Given the description of an element on the screen output the (x, y) to click on. 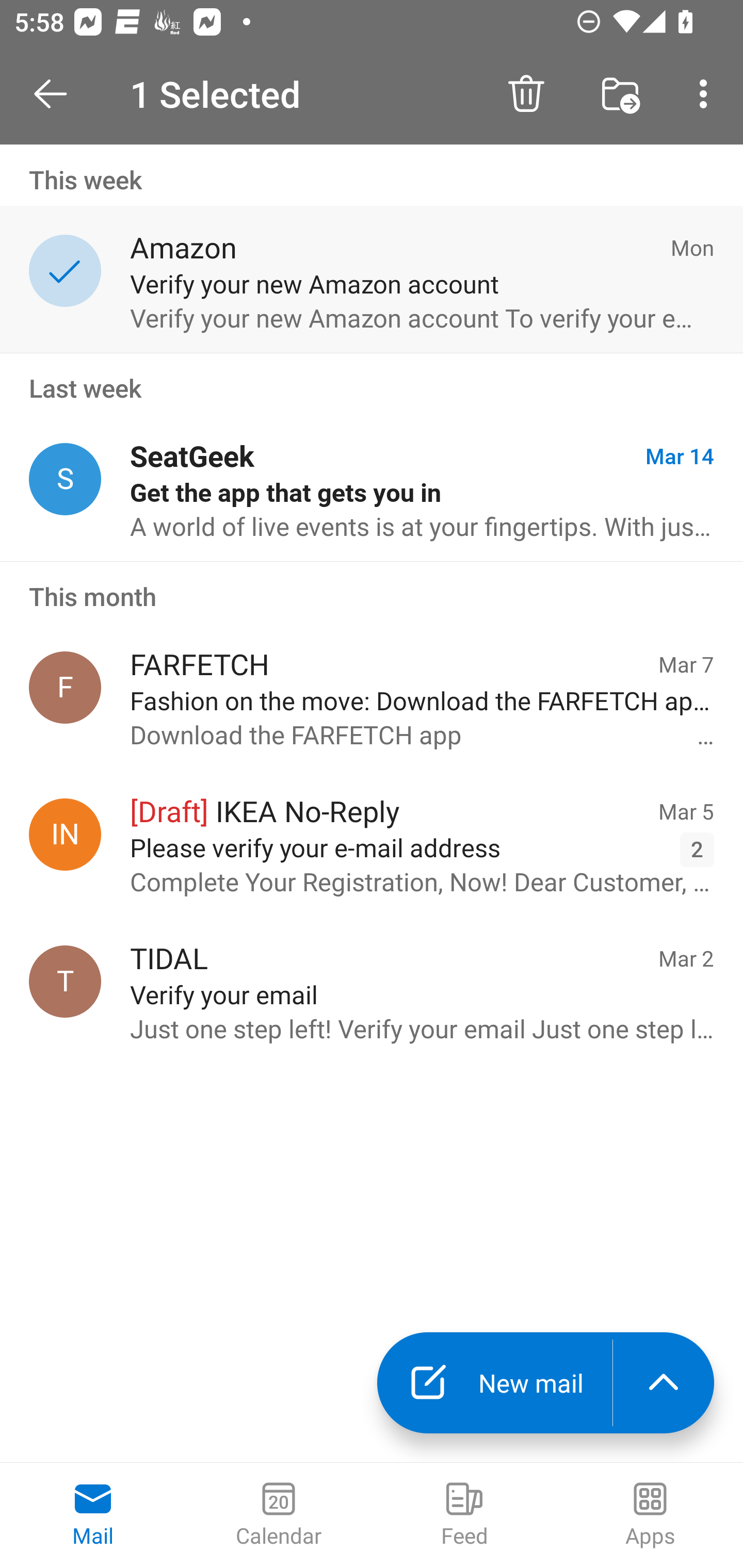
Delete (525, 93)
Empty Deleted (612, 93)
Search, ,  (699, 93)
Open Navigation Drawer (57, 94)
SeatGeek, events@seatgeek.com (64, 479)
FARFETCH, farfetch@email.farfetch.com (64, 687)
IKEA No-Reply, noreply@ikea.com.hk (64, 834)
TIDAL, account@info.tidal.com (64, 981)
New mail (494, 1382)
launch the extended action menu (663, 1382)
Calendar (278, 1515)
Feed (464, 1515)
Apps (650, 1515)
